Given the description of an element on the screen output the (x, y) to click on. 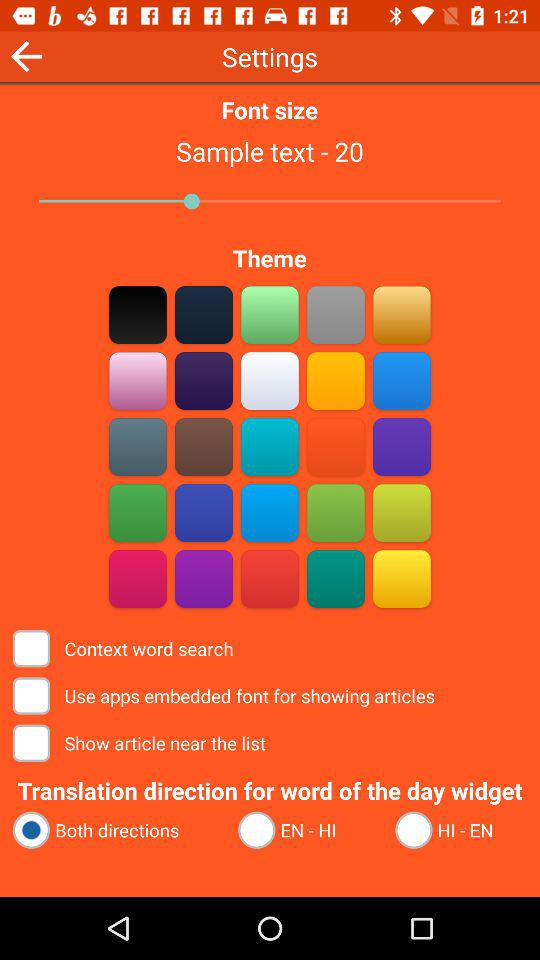
theme colour (203, 446)
